Given the description of an element on the screen output the (x, y) to click on. 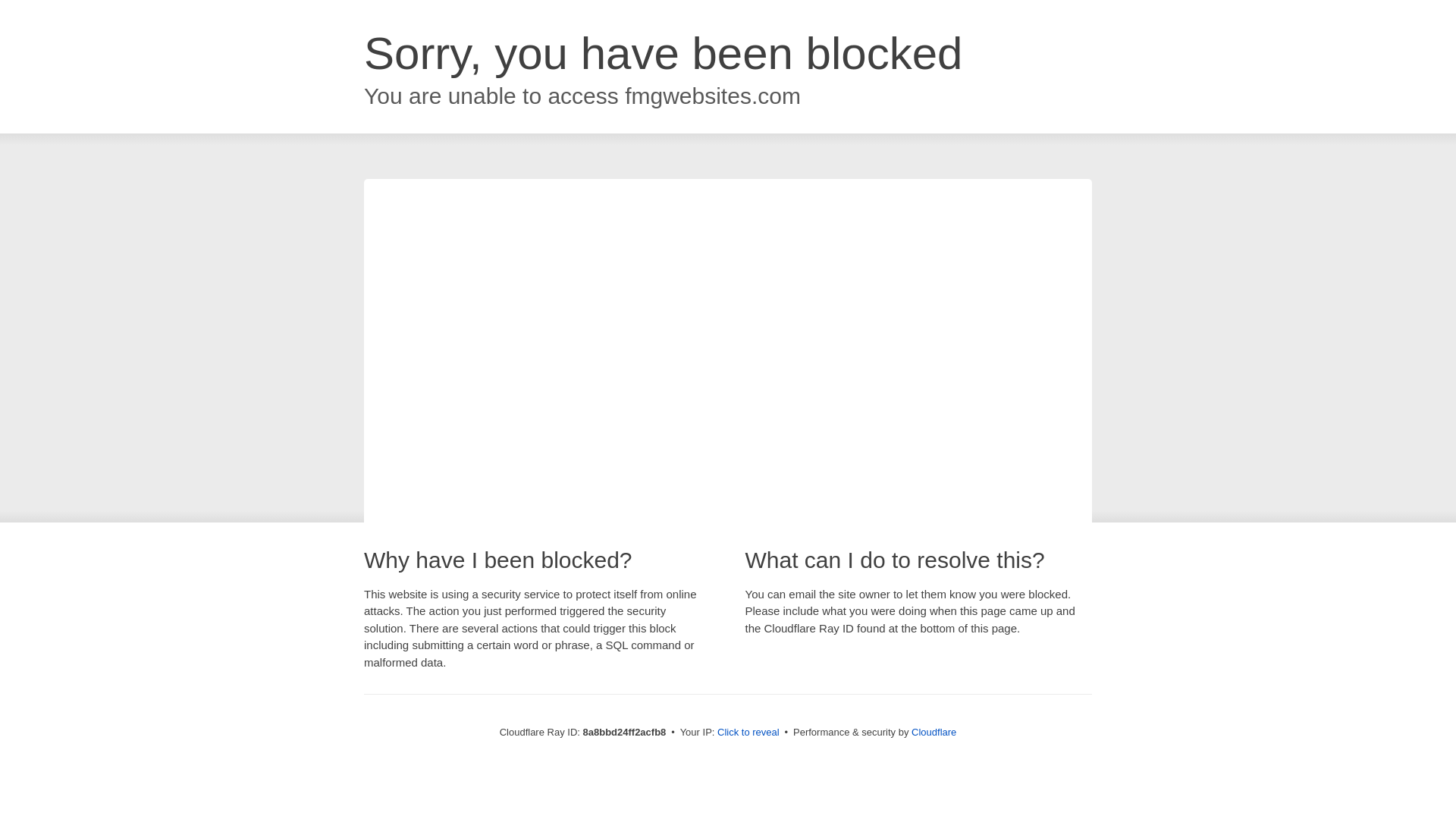
Click to reveal (747, 732)
Cloudflare (933, 731)
